Given the description of an element on the screen output the (x, y) to click on. 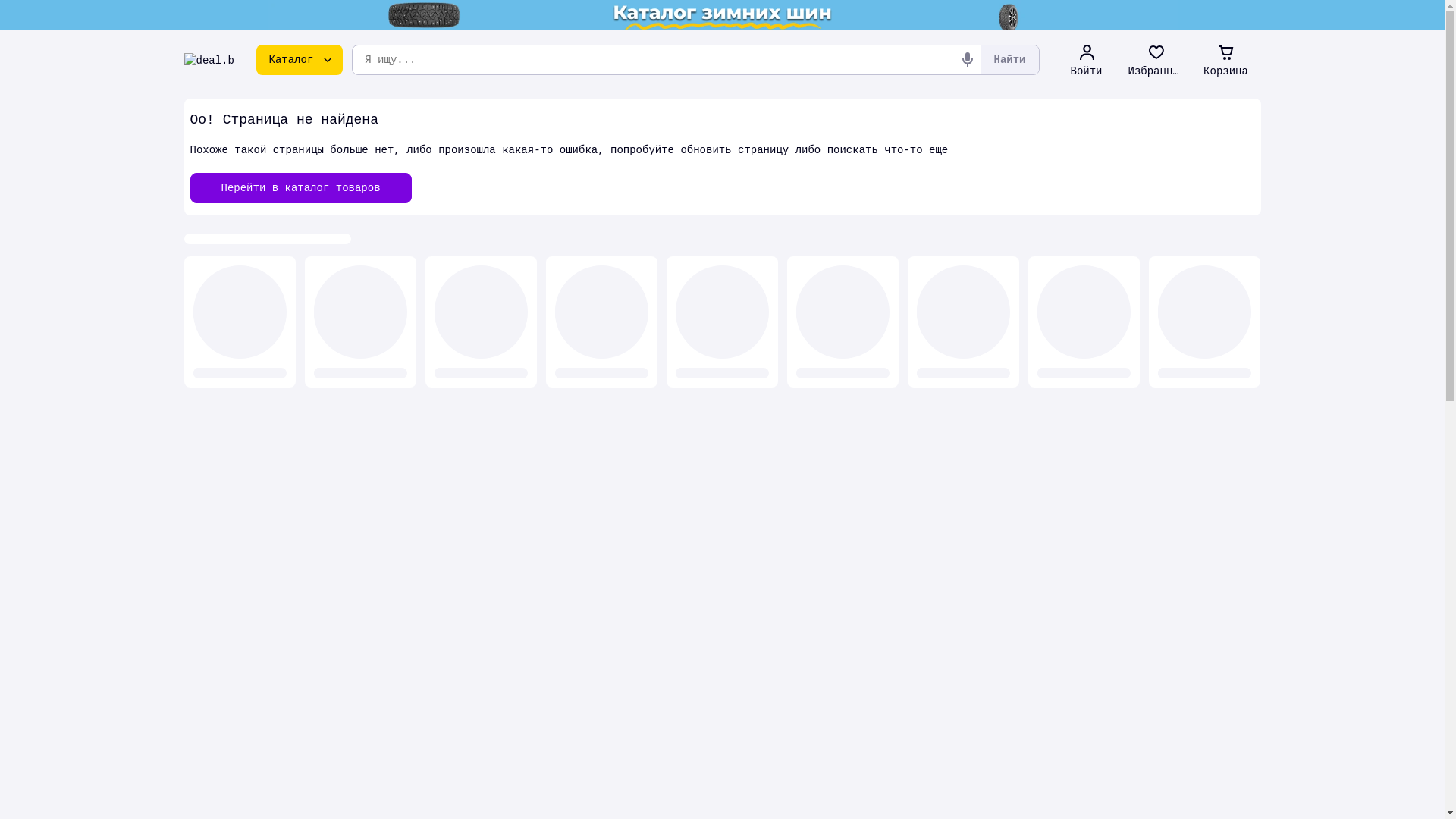
deal.by Element type: hover (208, 59)
